Given the description of an element on the screen output the (x, y) to click on. 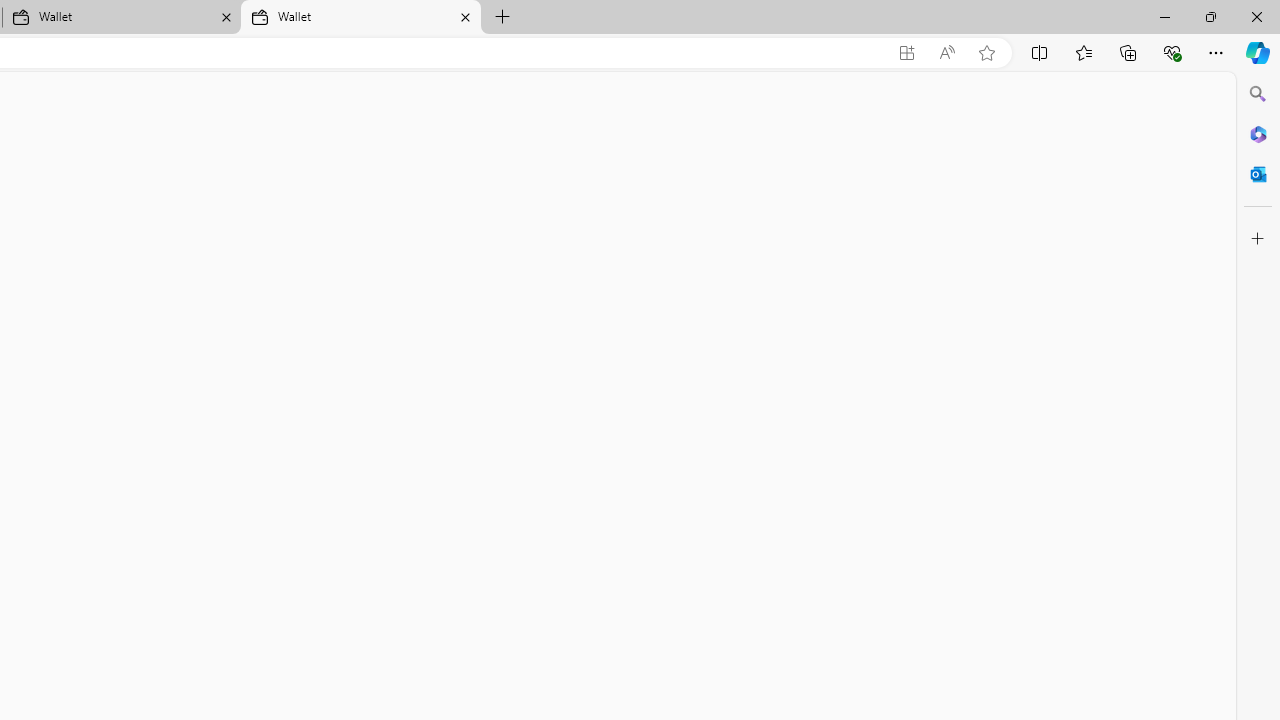
Wallet (360, 17)
